Given the description of an element on the screen output the (x, y) to click on. 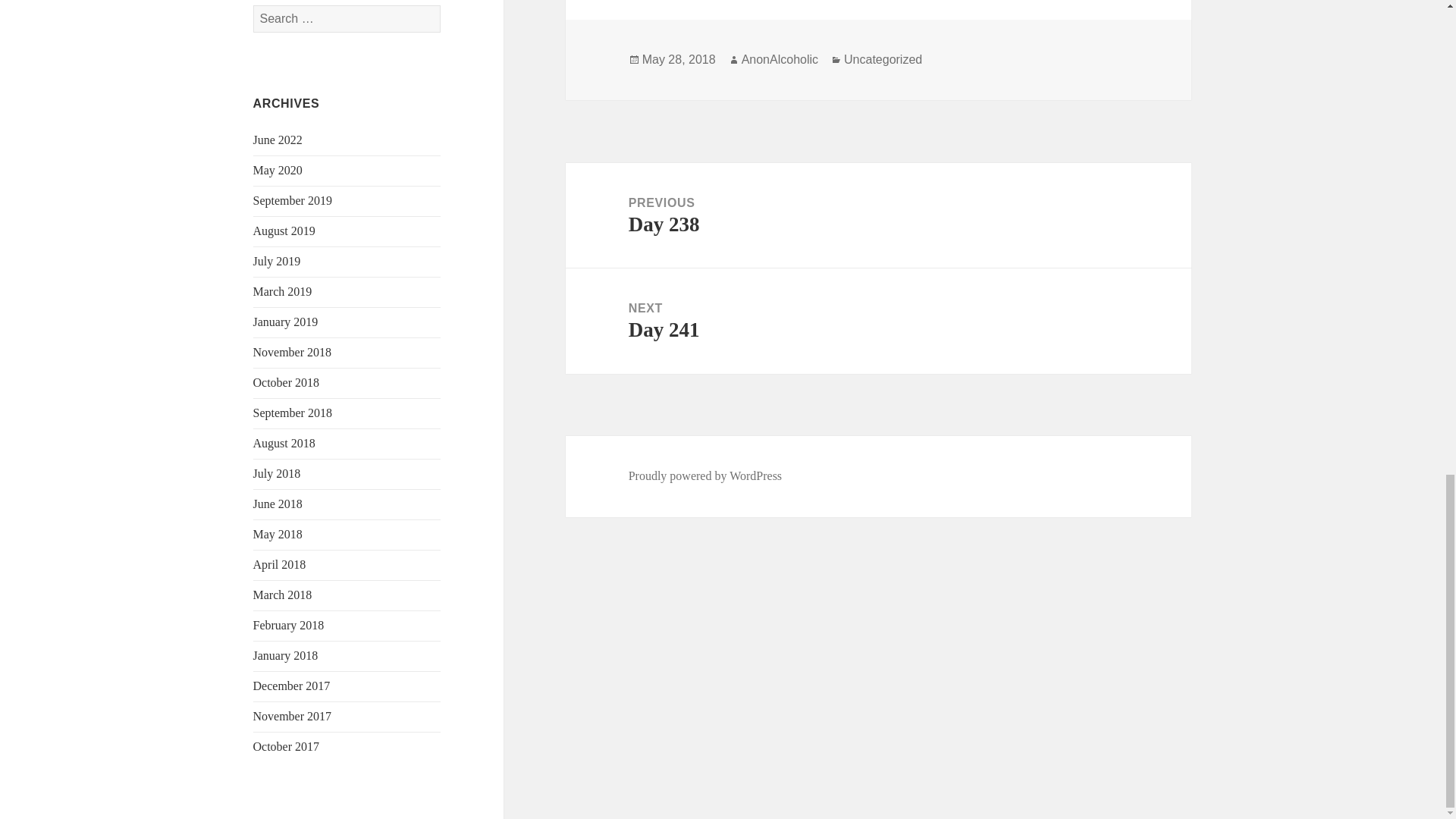
May 2020 (277, 169)
January 2019 (285, 321)
June 2018 (277, 503)
August 2019 (284, 230)
AnonAlcoholic (779, 59)
August 2018 (284, 442)
October 2017 (286, 746)
November 2017 (292, 716)
March 2019 (283, 291)
December 2017 (291, 685)
May 2018 (277, 533)
September 2018 (292, 412)
October 2018 (286, 382)
